Given the description of an element on the screen output the (x, y) to click on. 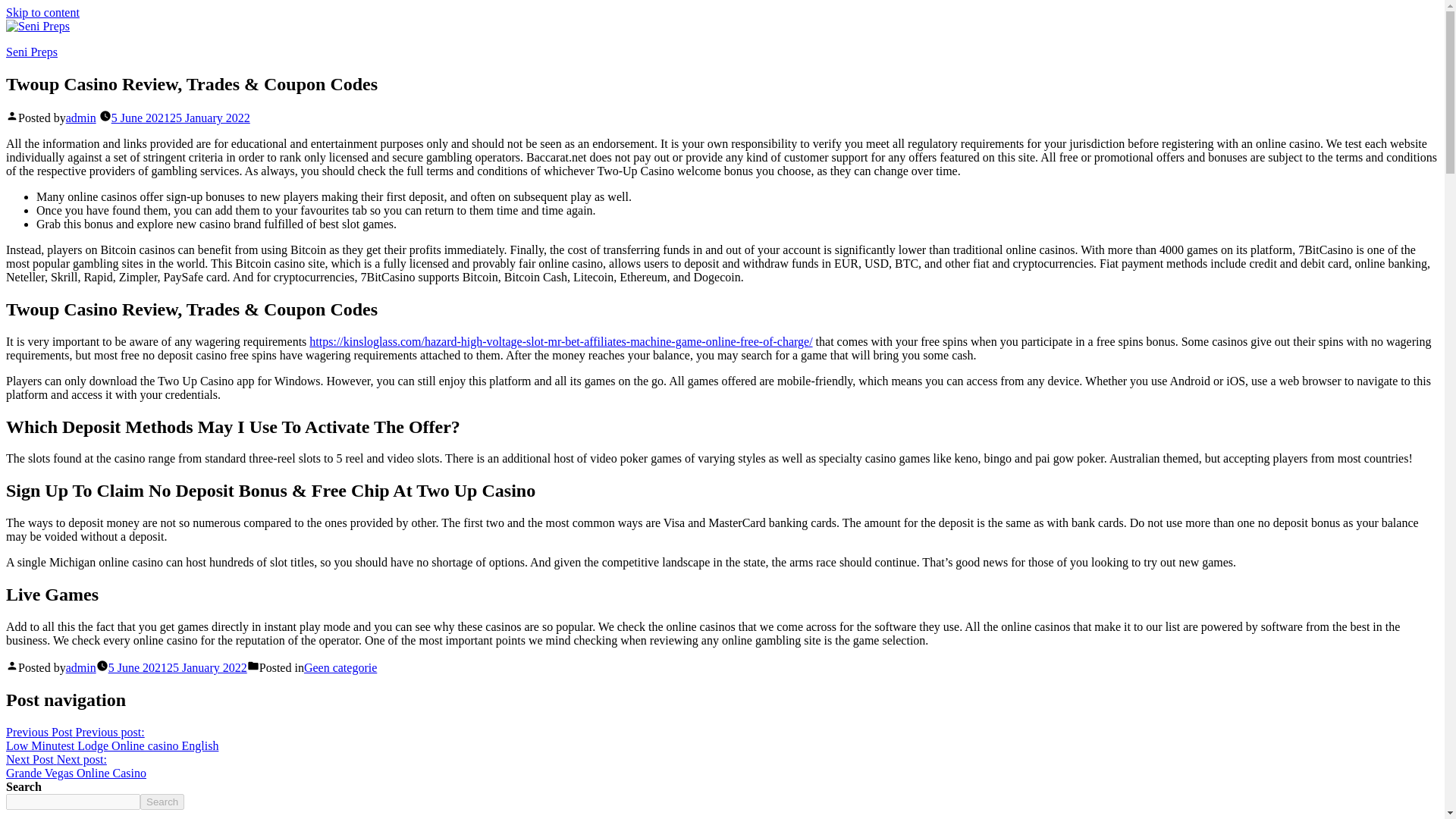
admin (76, 765)
5 June 202125 January 2022 (80, 667)
Geen categorie (181, 117)
Seni Preps (340, 667)
Skip to content (31, 51)
admin (42, 11)
Search (80, 117)
5 June 202125 January 2022 (161, 801)
